Given the description of an element on the screen output the (x, y) to click on. 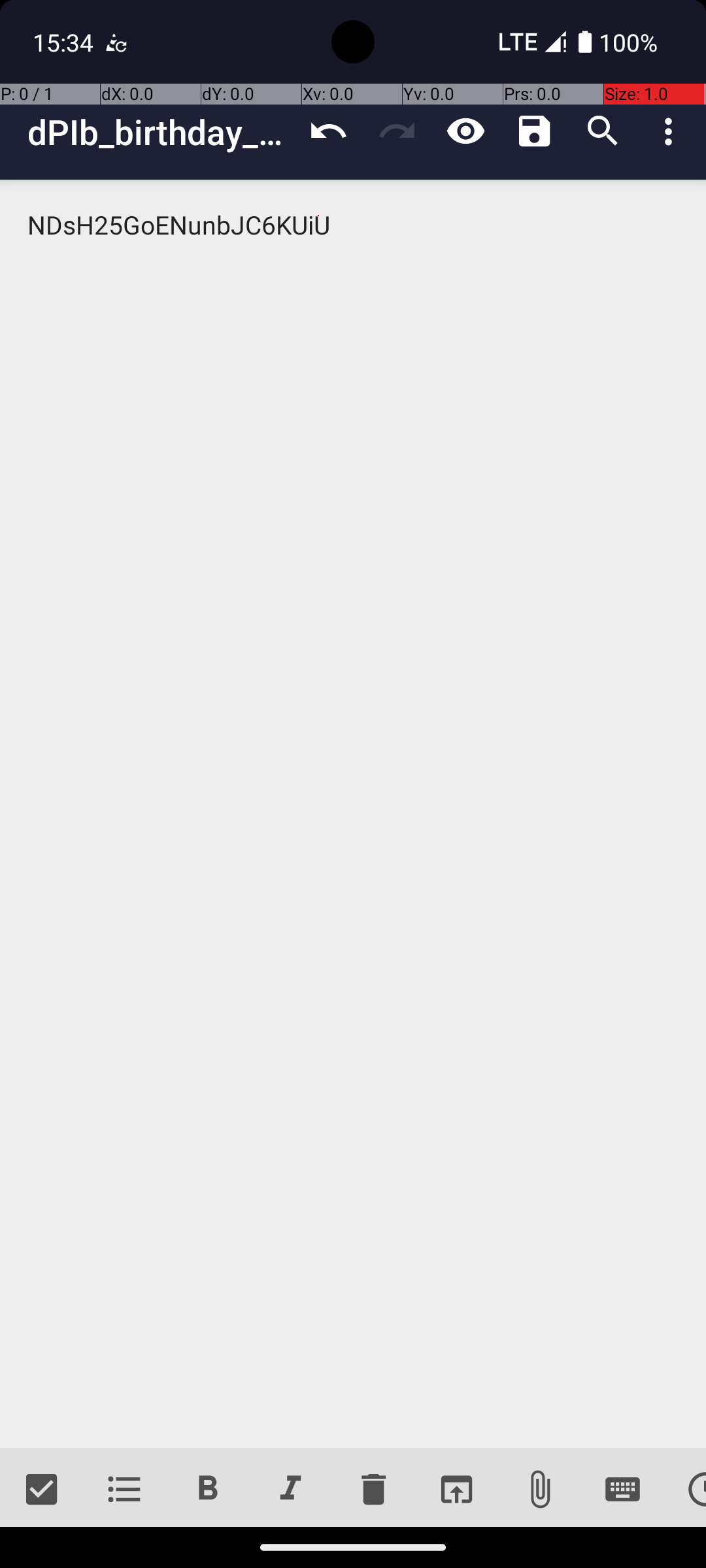
dPIb_birthday_gift_ideas_mom Element type: android.widget.TextView (160, 131)
NDsH25GoENunbJC6KUiU Element type: android.widget.EditText (353, 813)
